Given the description of an element on the screen output the (x, y) to click on. 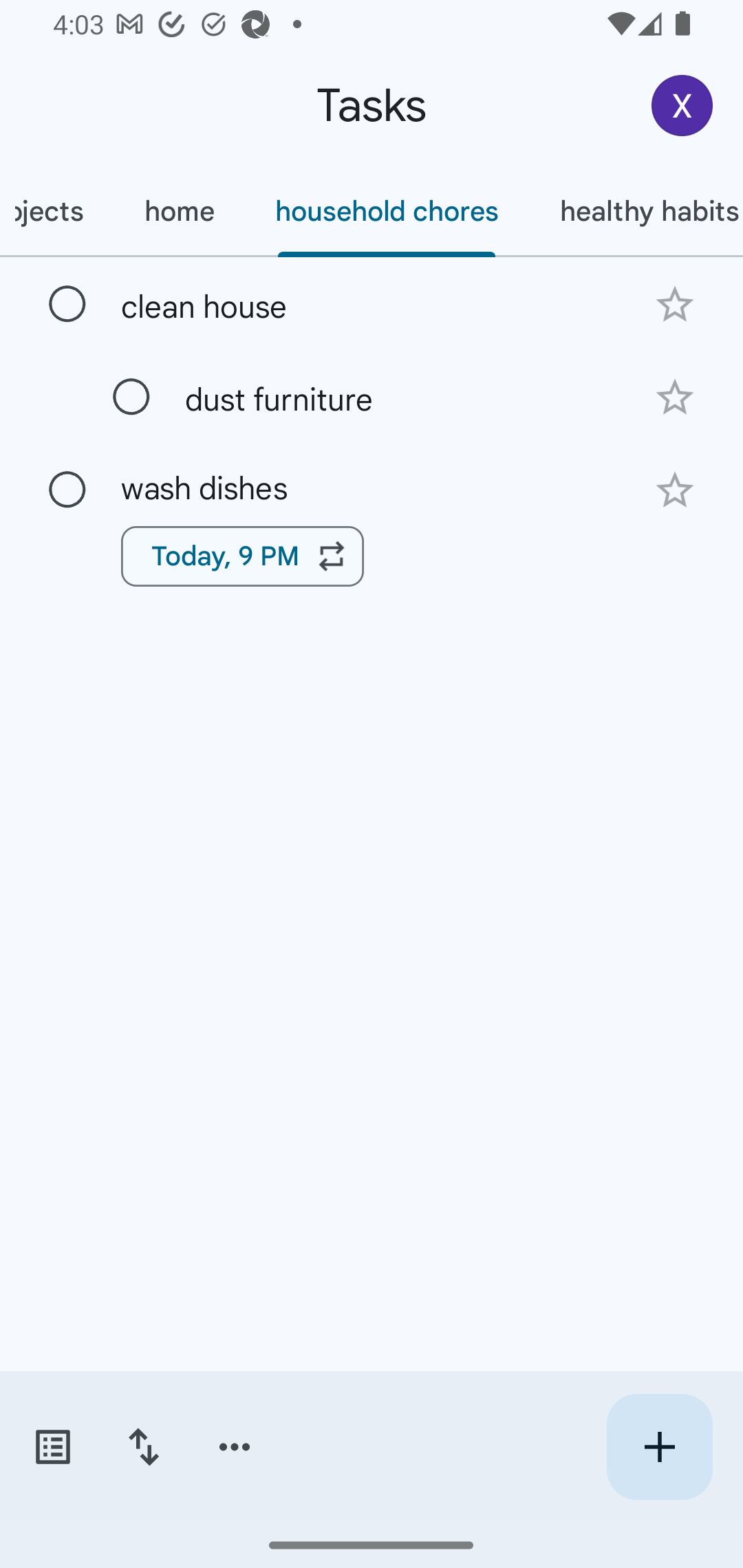
projects (56, 211)
home (178, 211)
healthy habits (636, 211)
Add star (674, 303)
Mark as complete (67, 304)
Add star (674, 397)
Mark as complete (131, 397)
Add star (674, 490)
Mark as complete (67, 489)
Today, 9 PM (242, 556)
Switch task lists (52, 1447)
Create new task (659, 1446)
Change sort order (143, 1446)
More options (234, 1446)
